Given the description of an element on the screen output the (x, y) to click on. 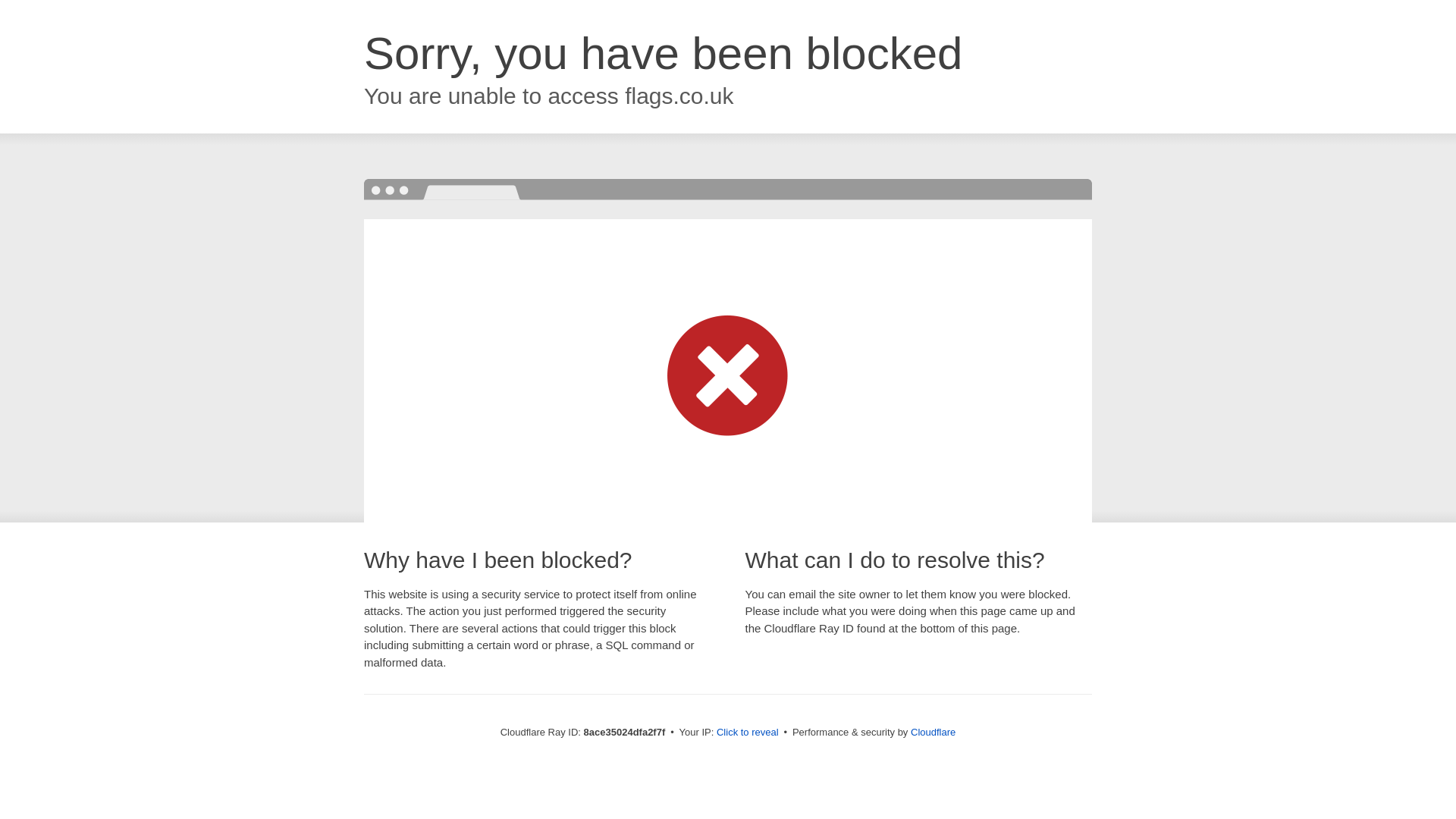
Cloudflare (933, 731)
Click to reveal (747, 732)
